Given the description of an element on the screen output the (x, y) to click on. 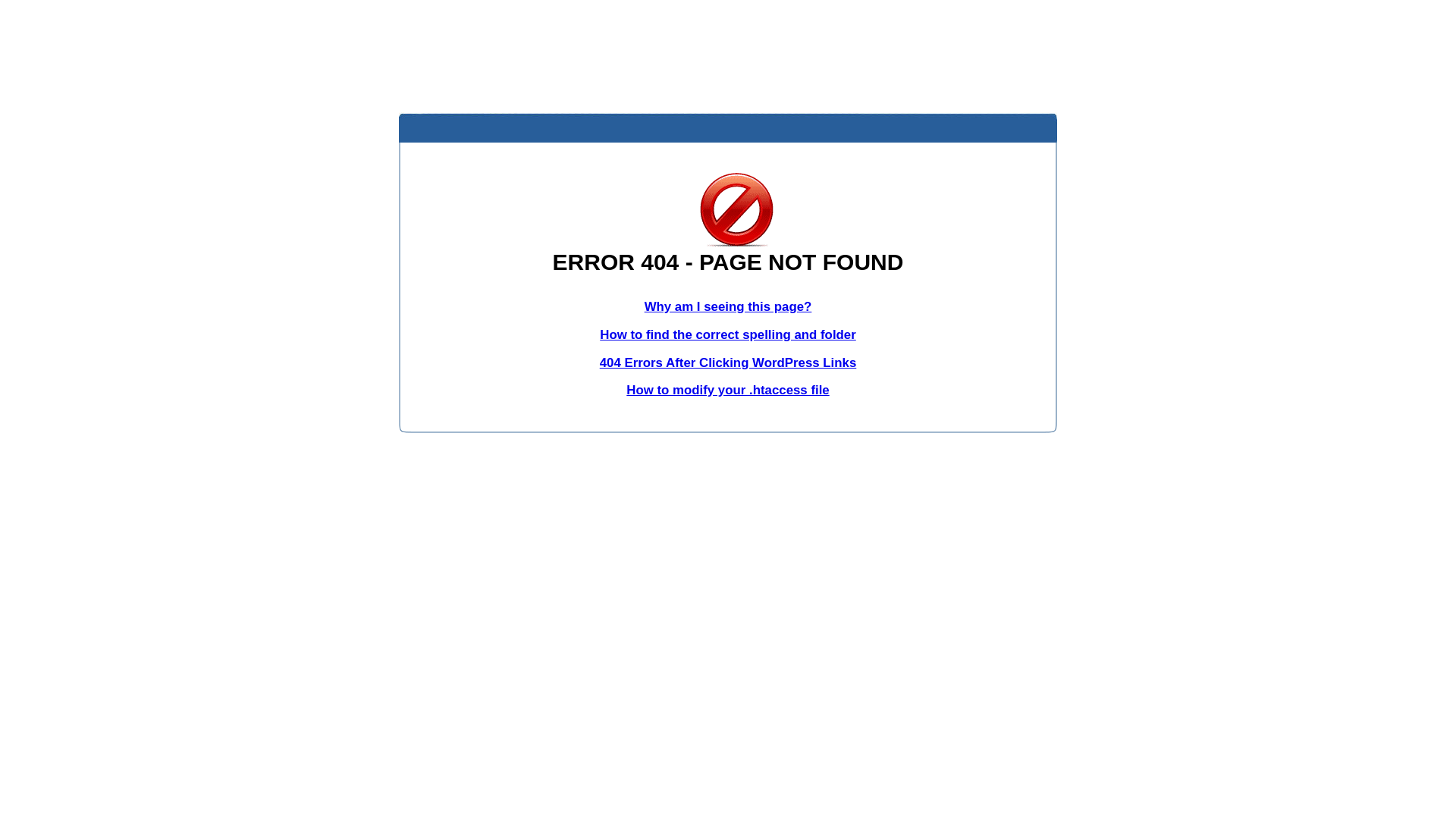
How to modify your .htaccess file Element type: text (727, 389)
Why am I seeing this page? Element type: text (728, 306)
404 Errors After Clicking WordPress Links Element type: text (727, 362)
How to find the correct spelling and folder Element type: text (727, 334)
